Given the description of an element on the screen output the (x, y) to click on. 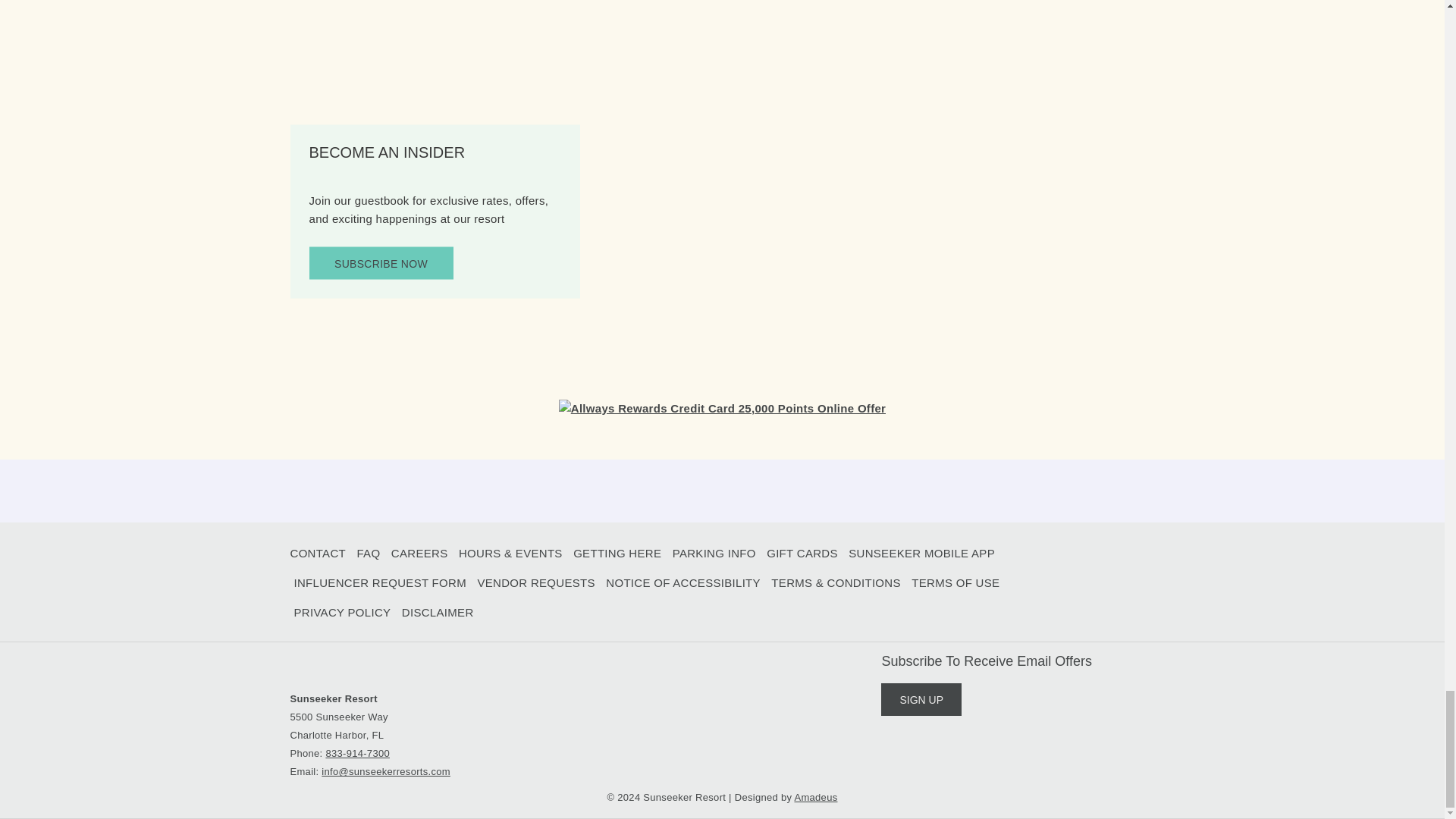
SUBSCRIBE NOW (380, 263)
GIFT CARDS (802, 553)
INFLUENCER REQUEST FORM (379, 583)
GETTING HERE (617, 553)
CAREERS (419, 553)
VENDOR REQUESTS (535, 583)
CONTACT (317, 553)
PARKING INFO (713, 553)
SUNSEEKER MOBILE APP (921, 553)
